Given the description of an element on the screen output the (x, y) to click on. 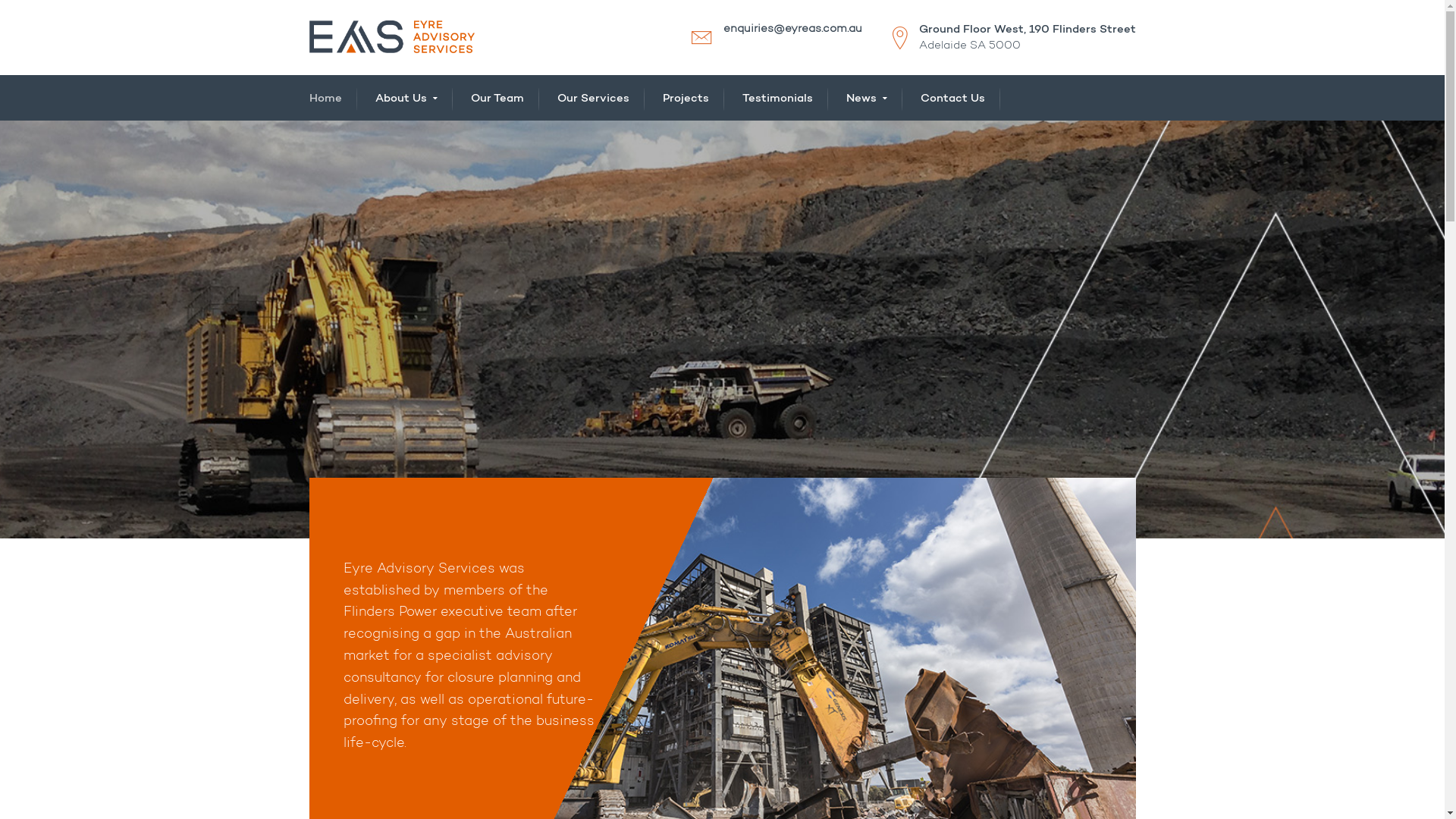
News Element type: text (866, 98)
About Us Element type: text (405, 98)
Testimonials Element type: text (776, 98)
Our Services Element type: text (592, 98)
Our Team Element type: text (496, 98)
Projects Element type: text (685, 98)
Home Element type: text (325, 98)
Contact Us Element type: text (952, 98)
enquiries@eyreas.com.au Element type: text (792, 28)
